Given the description of an element on the screen output the (x, y) to click on. 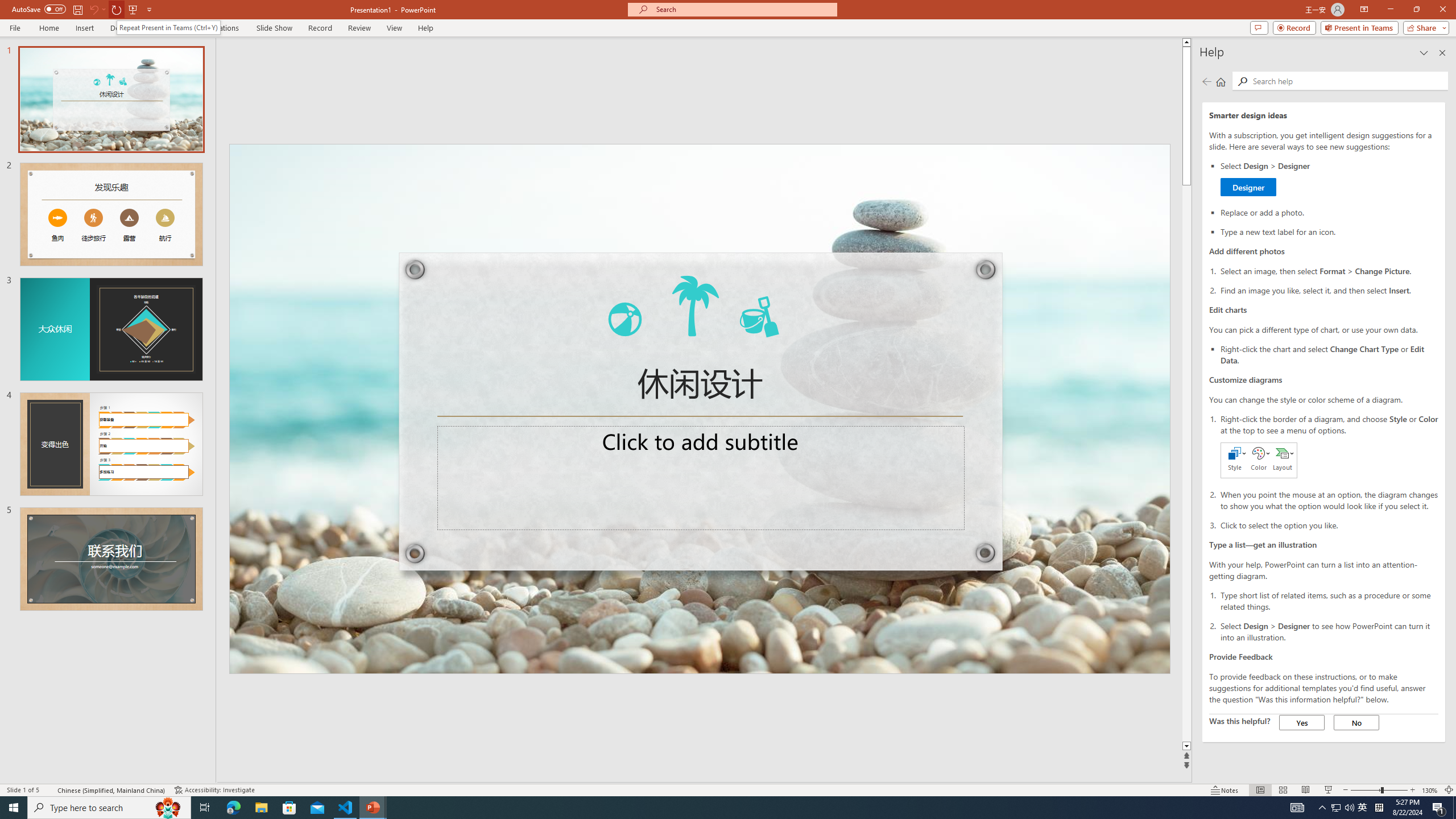
Spell Check  (49, 790)
Task Pane Options (1423, 52)
Repeat Present in Teams (Ctrl+Y) (168, 27)
Notes  (1225, 790)
Restore Down (1416, 9)
Accessibility Checker Accessibility: Investigate (214, 790)
Click to select the option you like. (1329, 524)
